Given the description of an element on the screen output the (x, y) to click on. 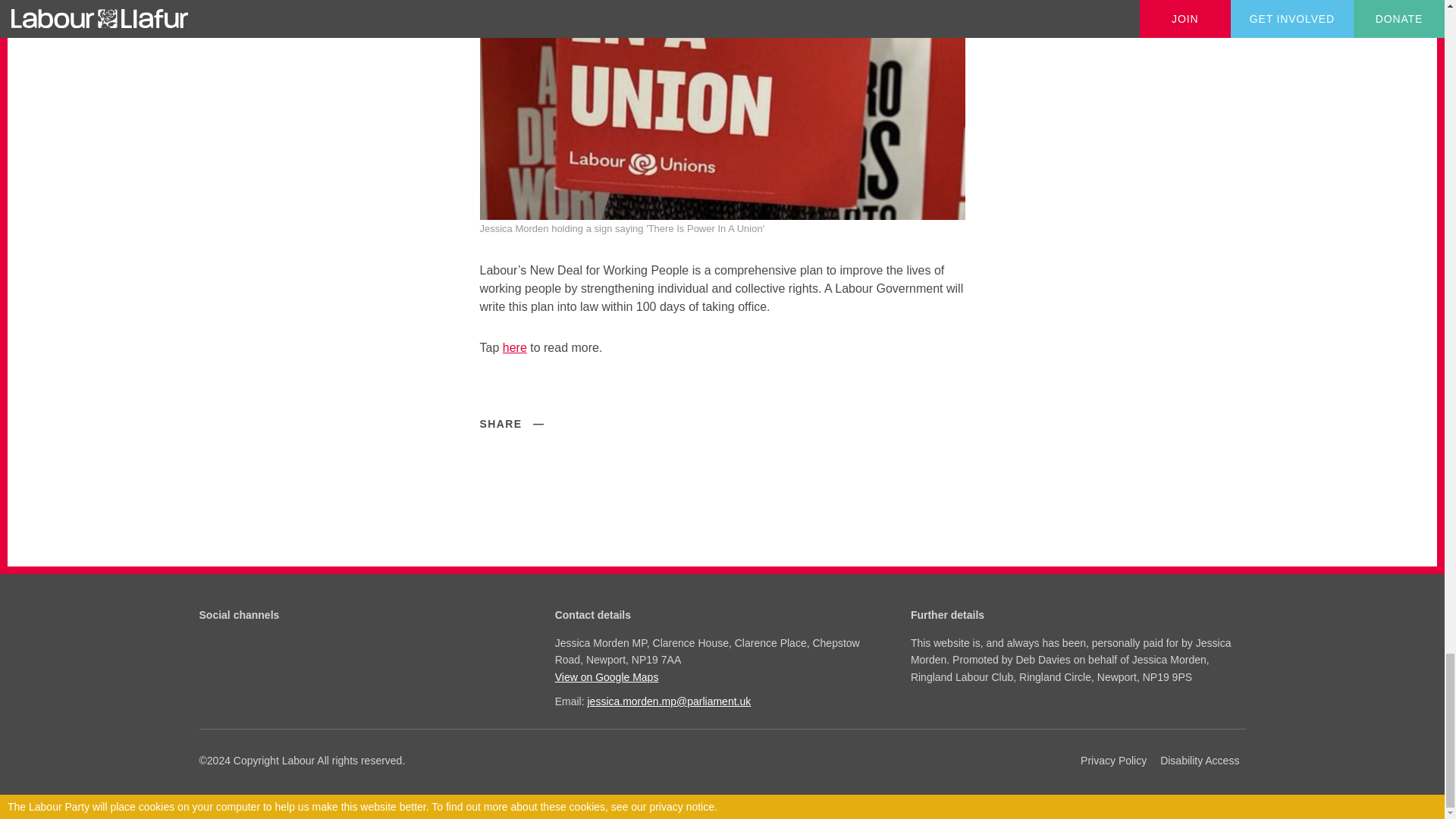
View on Google Maps (719, 677)
here (514, 347)
Disability Access (1199, 760)
Privacy Policy (1113, 760)
